Given the description of an element on the screen output the (x, y) to click on. 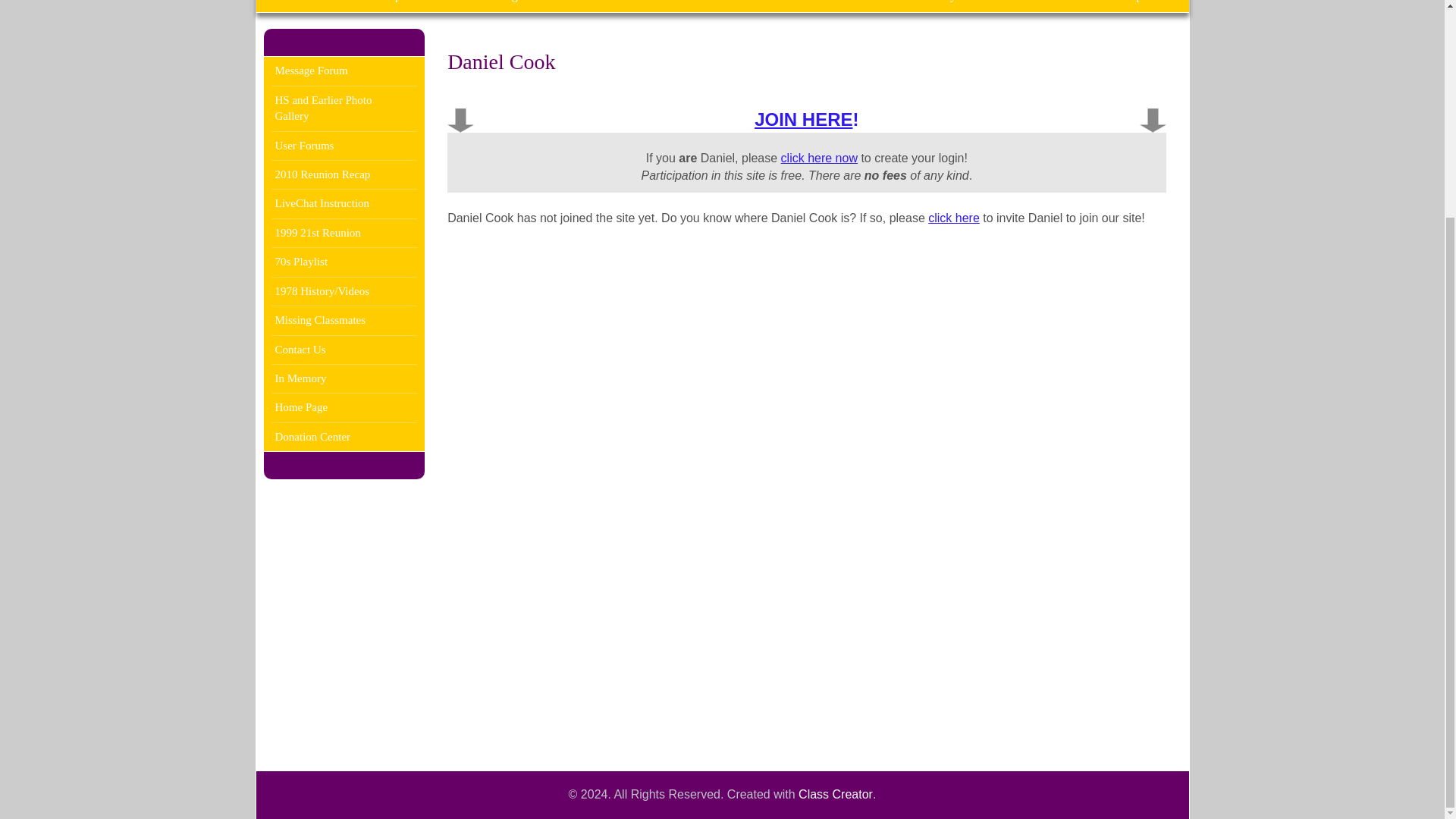
1999 21st Reunion (343, 232)
In Memory (343, 378)
Donation Center (343, 436)
LiveChat Instruction (343, 203)
2010 Reunion Recap (343, 174)
Reunion Gallery (915, 6)
JOIN HERE! (806, 118)
August 2018 40th Info (551, 6)
35th Reunion Recap (1093, 6)
Home Page (343, 407)
